Given the description of an element on the screen output the (x, y) to click on. 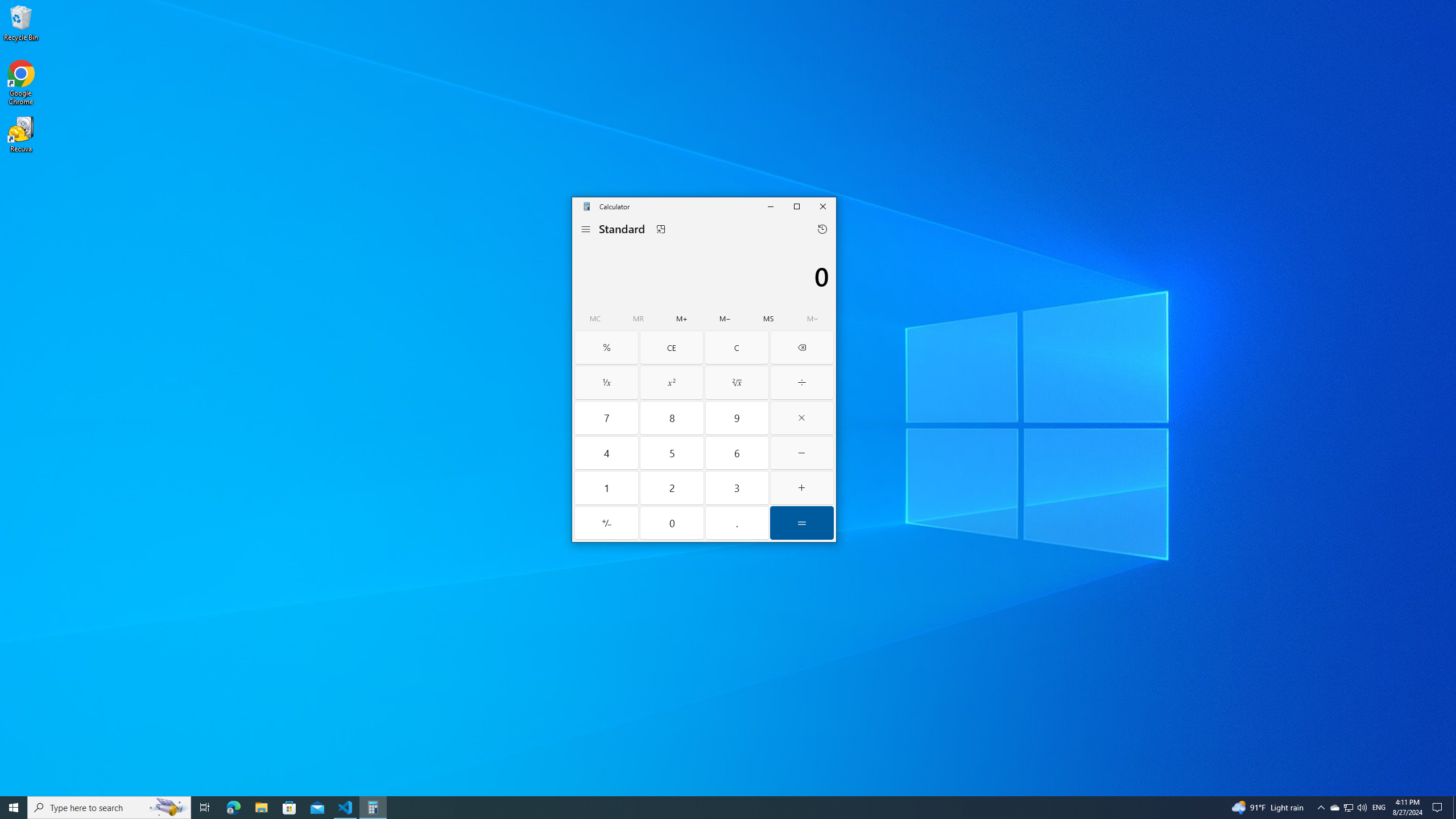
Memory subtract (724, 318)
File Explorer (261, 807)
Show desktop (1454, 807)
Q2790: 100% (1361, 807)
Close Calculator (822, 206)
Backspace (802, 347)
Six (736, 453)
User Promoted Notification Area (1347, 807)
Clear entry (671, 347)
Action Center, No new notifications (1439, 807)
Multiply by (802, 417)
Calculator - 1 running window (373, 807)
Decimal separator (736, 522)
Start (13, 807)
